Given the description of an element on the screen output the (x, y) to click on. 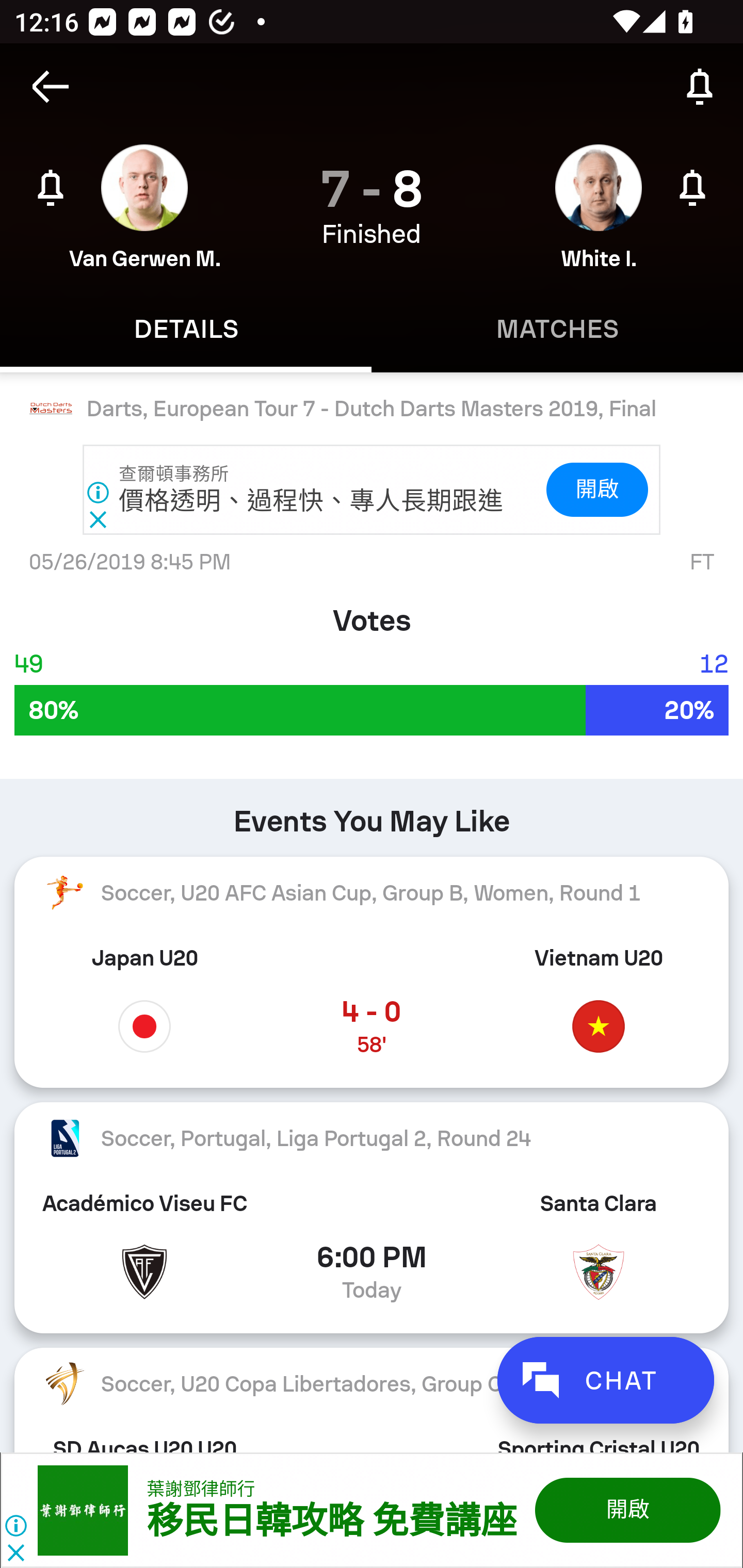
Navigate up (50, 86)
Matches MATCHES (557, 329)
查爾頓事務所 (174, 474)
開啟 (596, 489)
價格透明、過程快、專人長期跟進 (311, 500)
Events You May Like (371, 814)
Soccer, U20 AFC Asian Cup, Group B, Women, Round 1 (371, 892)
Soccer, Portugal, Liga Portugal 2, Round 24 (371, 1138)
CHAT (605, 1380)
葉謝鄧律師行 (200, 1488)
開啟 (626, 1509)
移民日韓攻略 免費講座 (330, 1521)
